Given the description of an element on the screen output the (x, y) to click on. 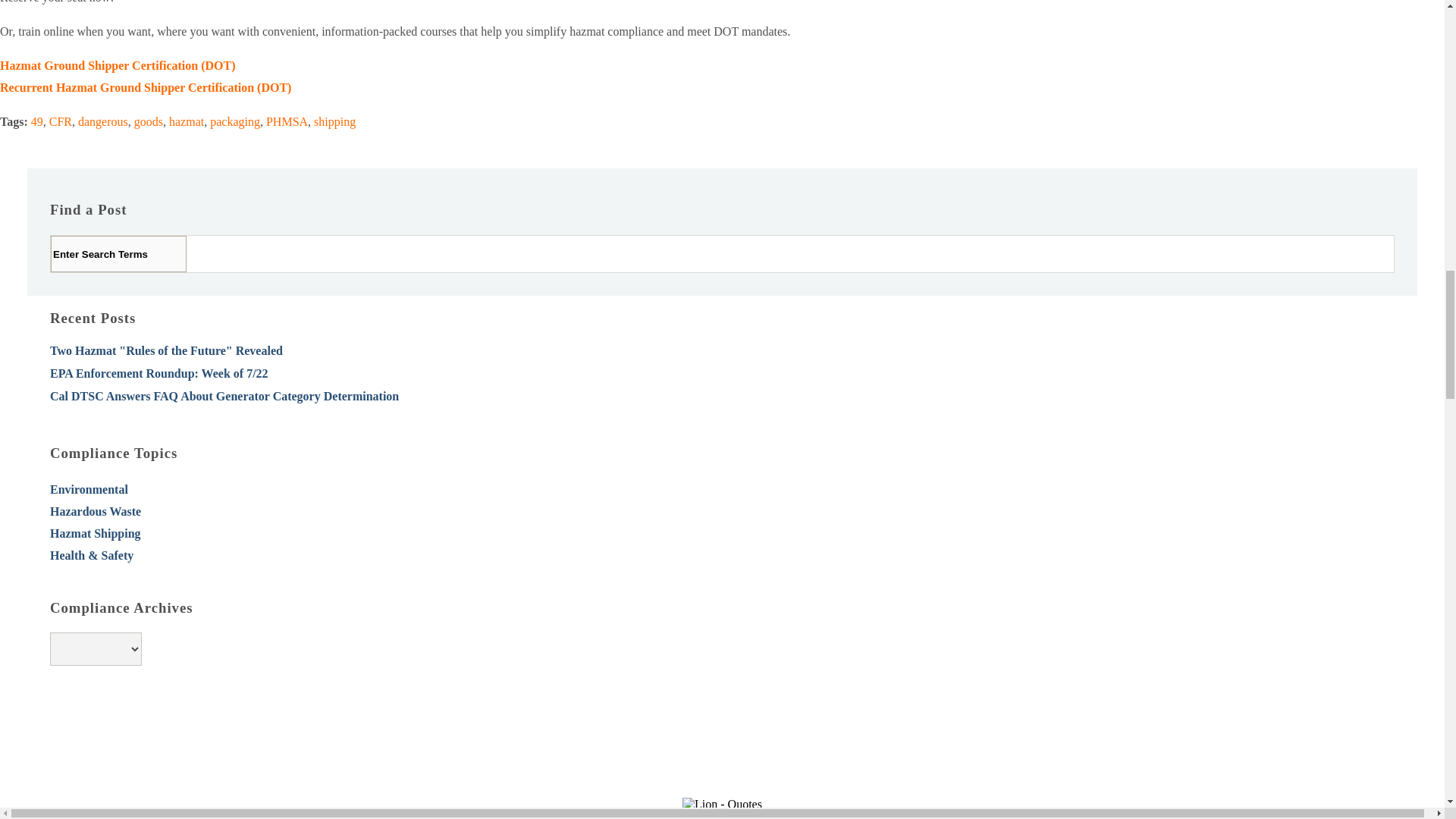
. (205, 252)
